Given the description of an element on the screen output the (x, y) to click on. 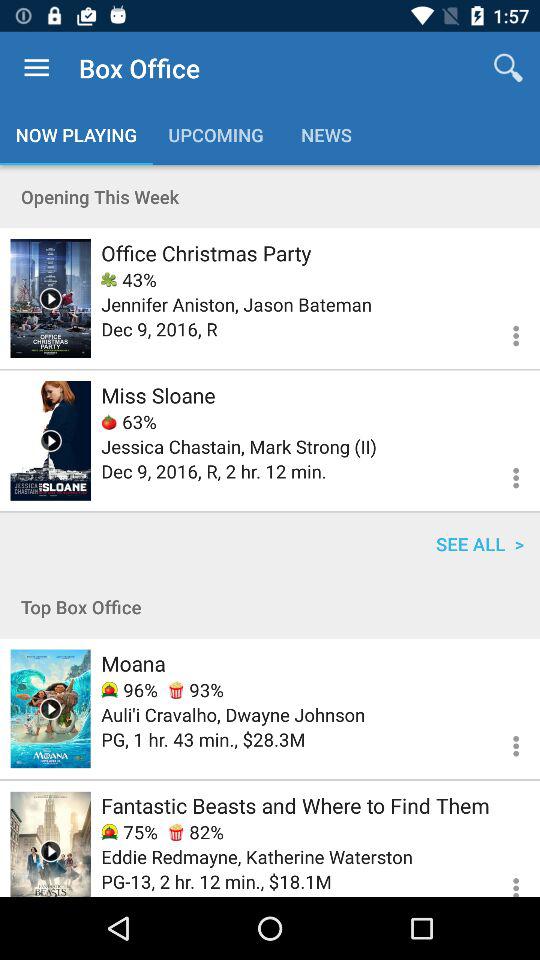
watch the movie trailer (50, 298)
